Given the description of an element on the screen output the (x, y) to click on. 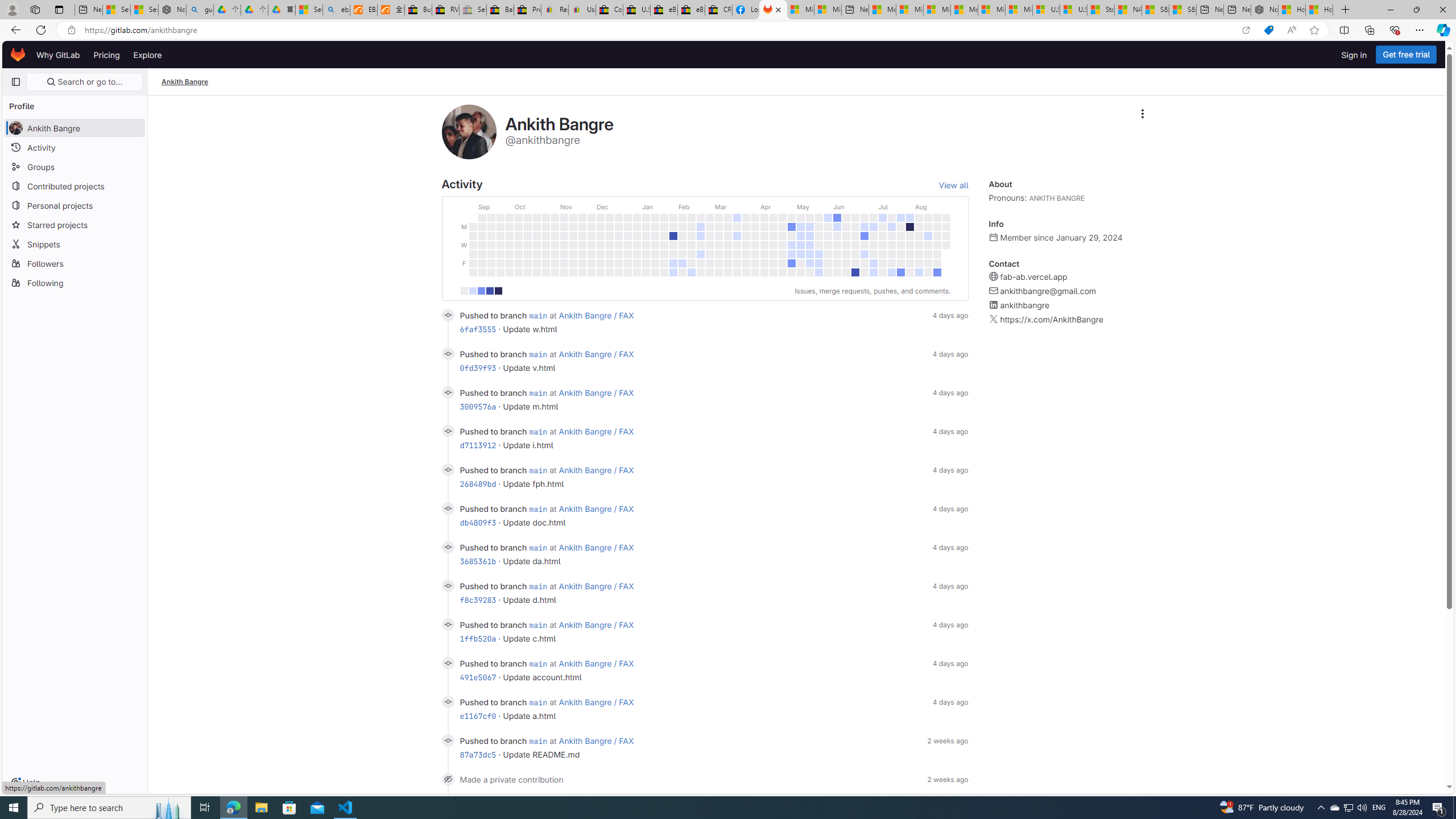
User profile picture (468, 131)
db4809f3 (478, 522)
